Given the description of an element on the screen output the (x, y) to click on. 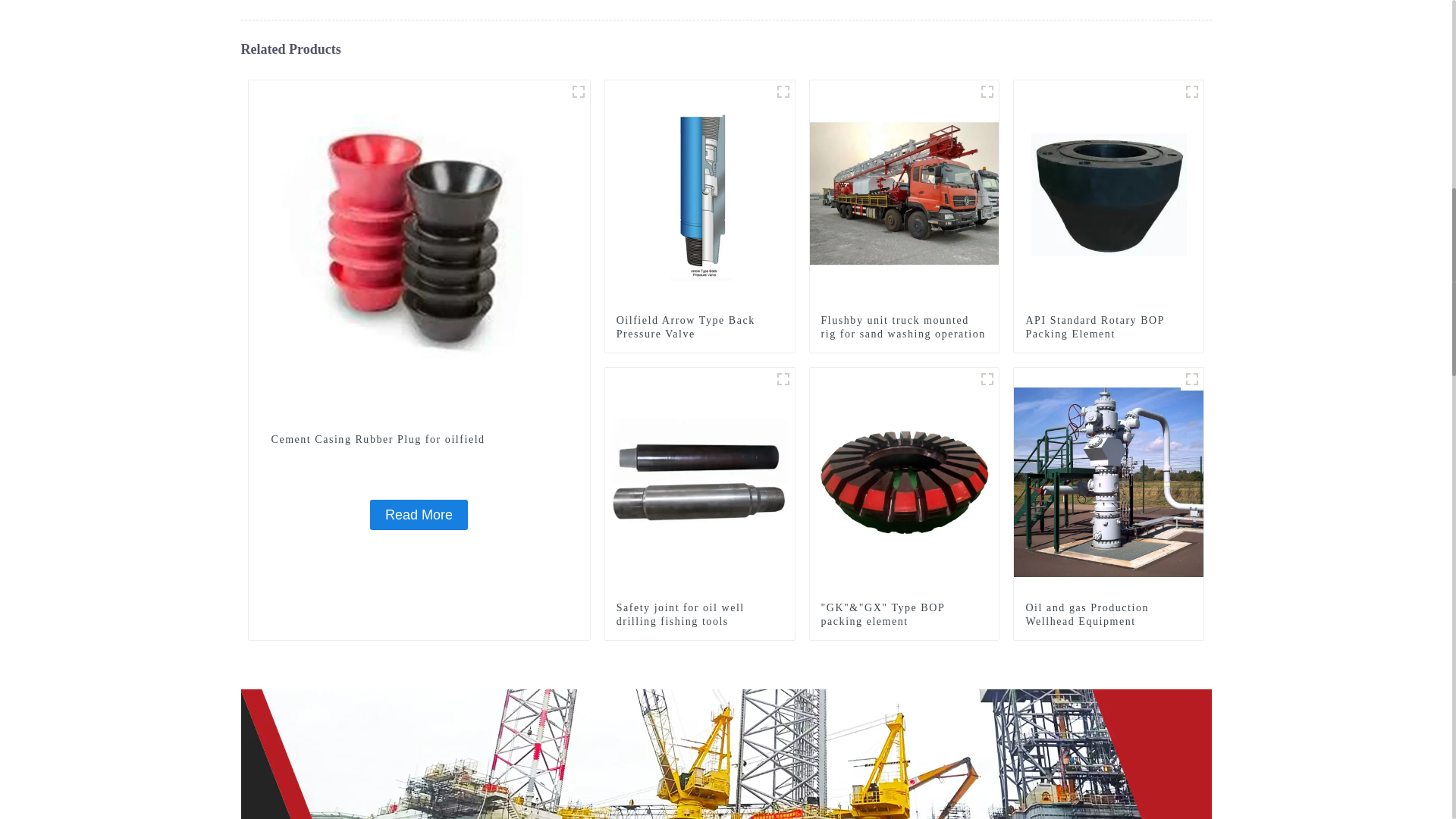
Safety joint for oil well drilling fishing tools (699, 614)
Flushby unit truck mounted rig for sand washing operation (903, 193)
Cement Casing Rubber Plug for oilfield (418, 439)
Safety joint for oil well drilling fishing tools (699, 481)
Oilfield Arrow Type Back Pressure Valve (699, 327)
Flushby unit truck mounted rig for sand washing operation (904, 327)
Rubber Plug3 (578, 91)
API Standard Rotary BOP Packing Element (1108, 193)
Cement Casing Rubber Plug for oilfield (418, 514)
Cement Casing Rubber Plug for oilfield (418, 250)
